Given the description of an element on the screen output the (x, y) to click on. 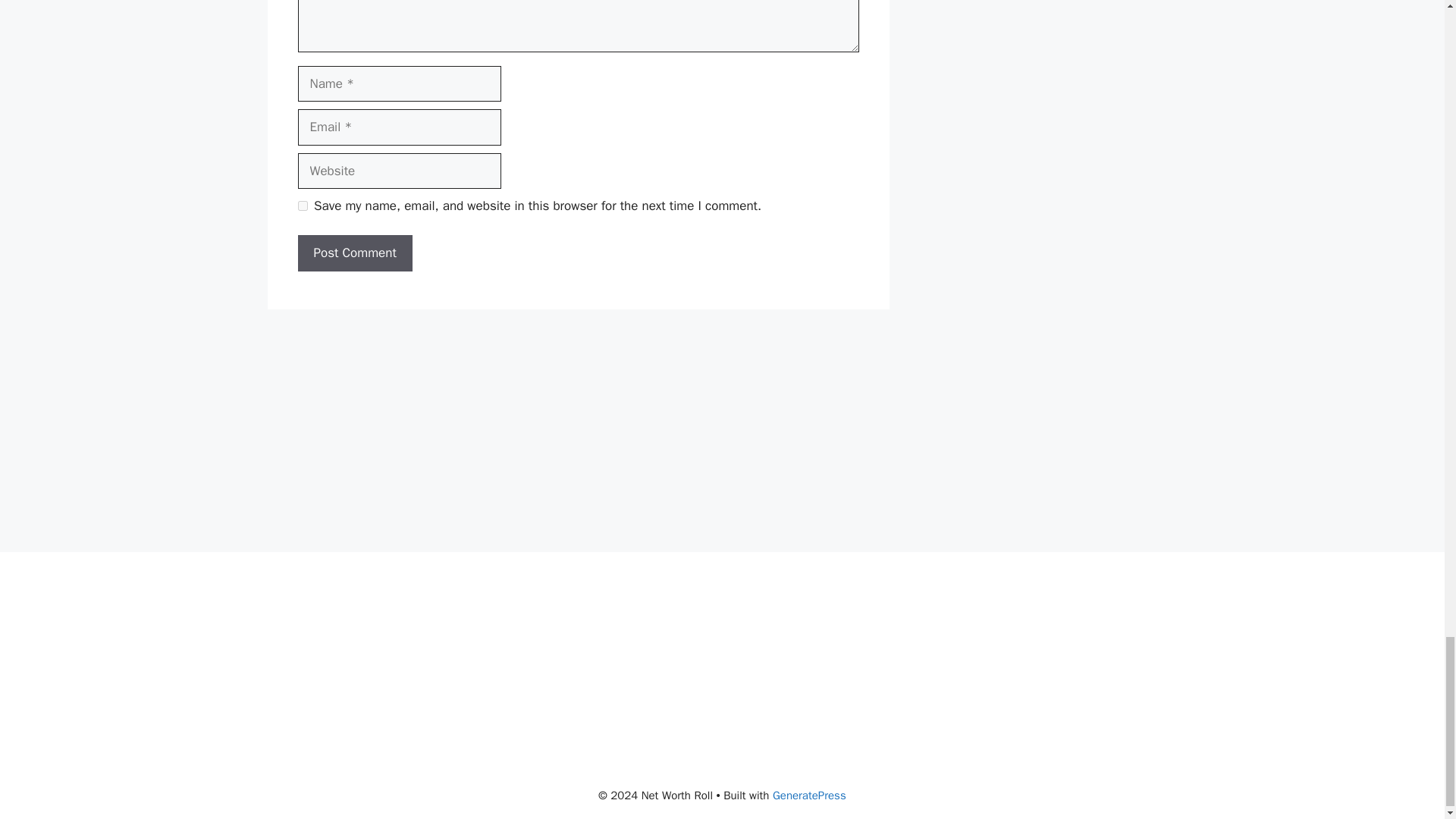
Post Comment (354, 253)
Post Comment (354, 253)
yes (302, 205)
GeneratePress (809, 795)
